Given the description of an element on the screen output the (x, y) to click on. 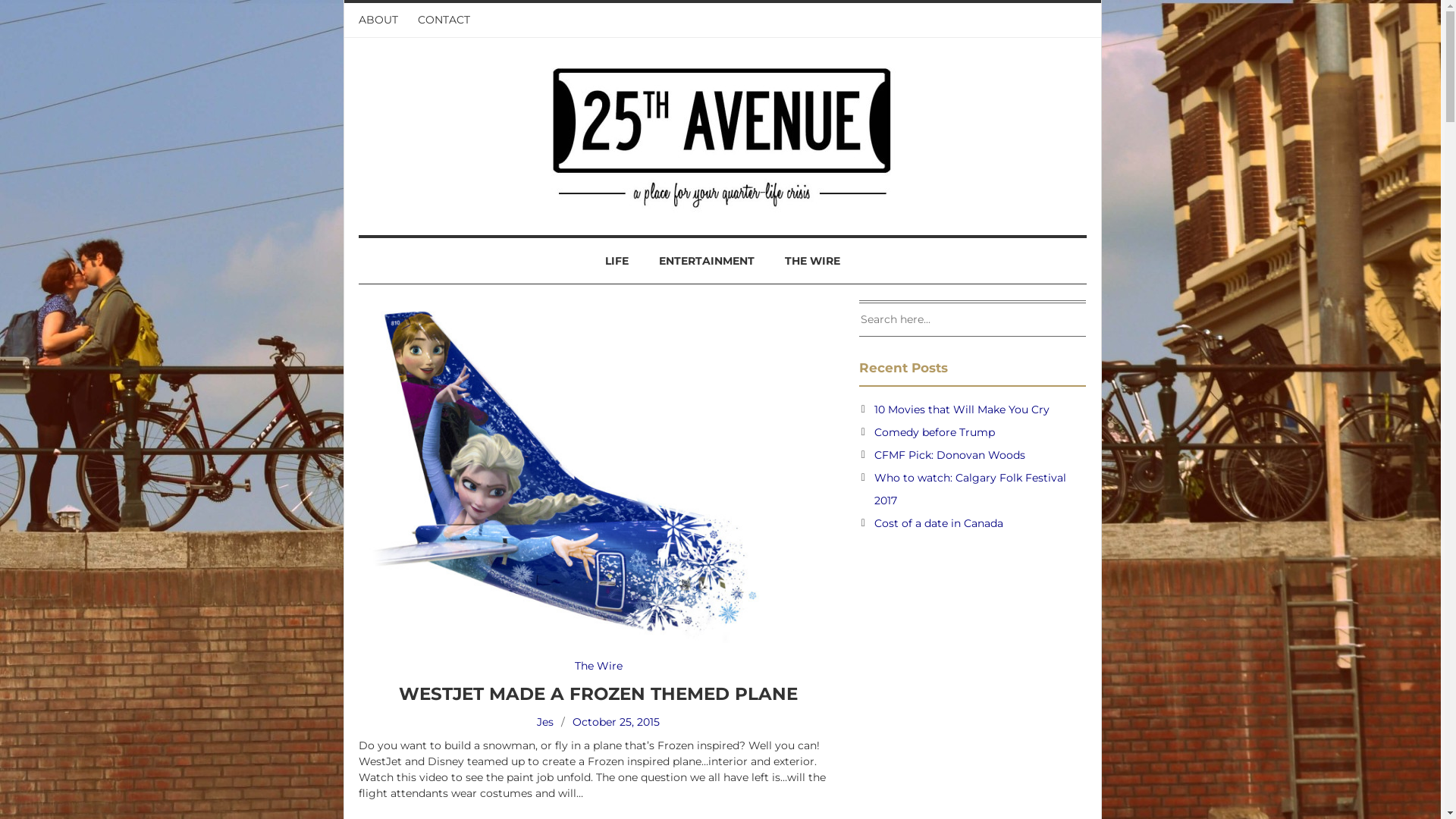
Jes Element type: text (544, 721)
10 Movies that Will Make You Cry Element type: text (961, 409)
Feed RSS Element type: hover (1046, 12)
Comedy before Trump Element type: text (934, 432)
CONTACT Element type: text (442, 20)
WESTJET MADE A FROZEN THEMED PLANE Element type: text (597, 693)
Follow us on Facebook Element type: hover (1066, 12)
Cost of a date in Canada Element type: text (938, 523)
CFMF Pick: Donovan Woods Element type: text (949, 454)
LIFE Element type: text (616, 261)
Who to watch: Calgary Folk Festival 2017 Element type: text (970, 488)
ENTERTAINMENT Element type: text (705, 261)
Home Element type: hover (722, 133)
ABOUT Element type: text (381, 20)
October 25, 2015 Element type: text (615, 721)
THE WIRE Element type: text (811, 261)
Follow us on Twitter Element type: hover (1080, 12)
The Wire Element type: text (598, 665)
